Given the description of an element on the screen output the (x, y) to click on. 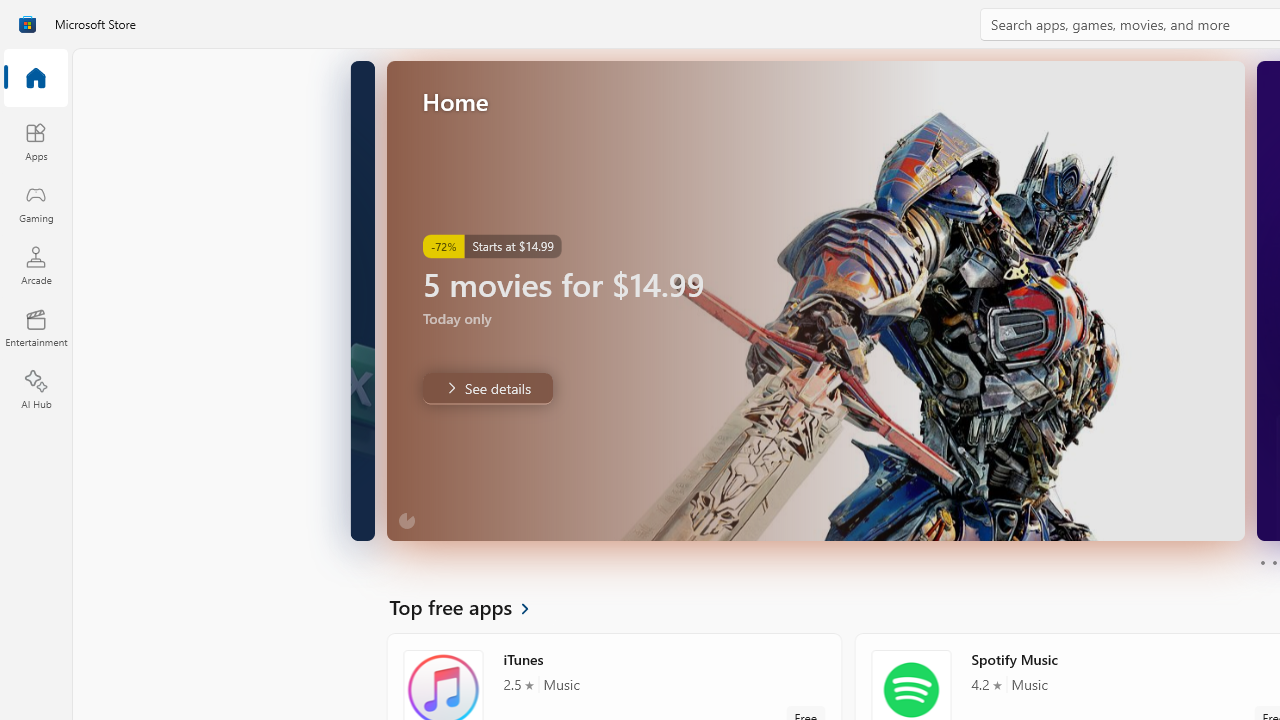
AutomationID: Image (815, 300)
See all  Top free apps (471, 606)
Page 2 (1274, 562)
Page 1 (1261, 562)
